Given the description of an element on the screen output the (x, y) to click on. 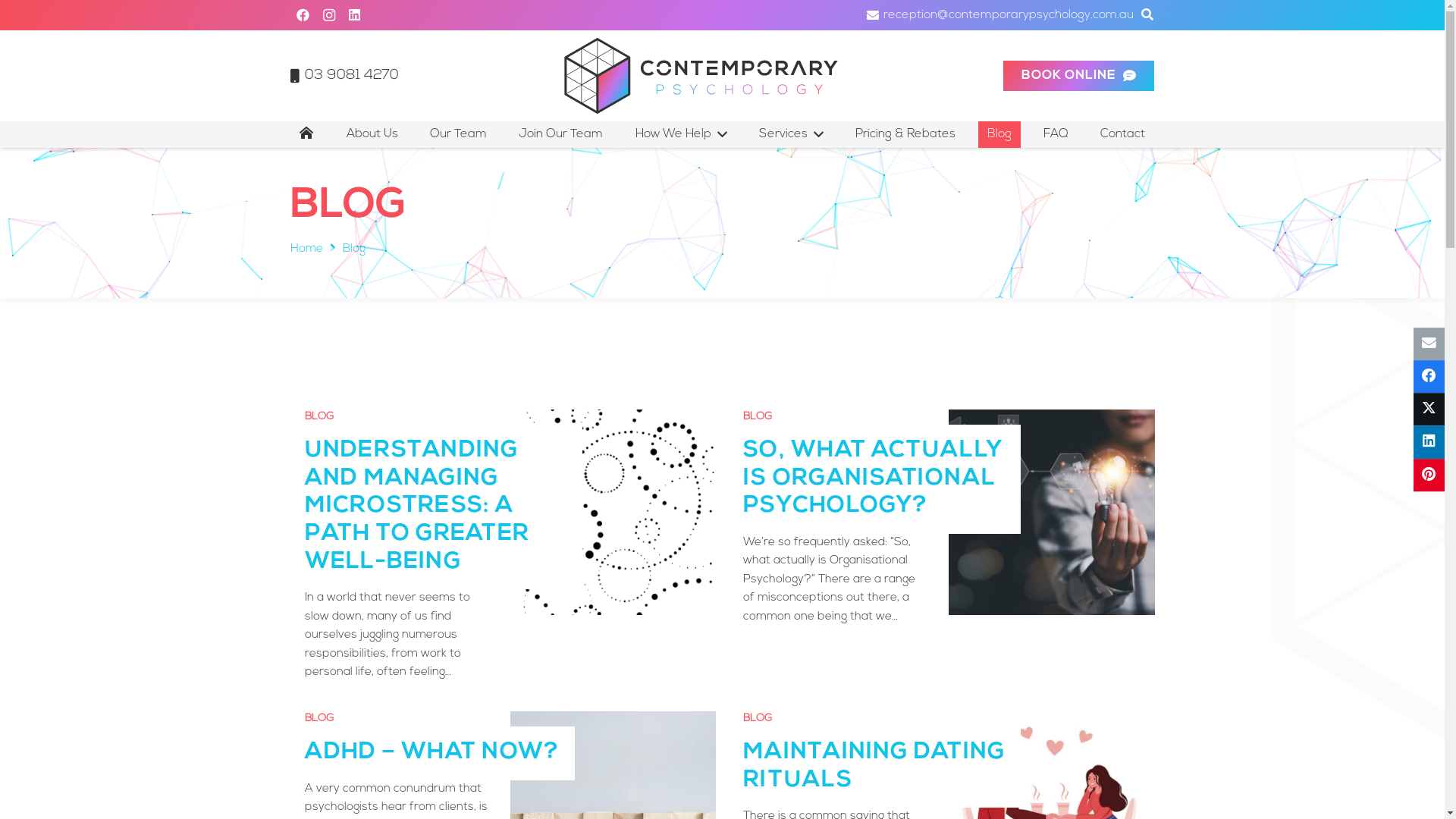
BLOG Element type: text (318, 718)
Pin this Element type: hover (1428, 474)
How We Help Element type: text (681, 134)
About Us Element type: text (372, 134)
BLOG Element type: text (757, 416)
BLOG Element type: text (757, 718)
Our Team Element type: text (457, 134)
BLOG Element type: text (318, 416)
Contact Element type: text (1122, 134)
MAINTAINING DATING RITUALS Element type: text (873, 766)
Blog Element type: text (999, 134)
Tweet this Element type: hover (1428, 408)
Services Element type: text (790, 134)
Home Element type: text (305, 248)
reception@contemporarypsychology.com.au Element type: text (999, 15)
BOOK ONLINE Element type: text (1078, 75)
Instagram Element type: hover (328, 15)
Join Our Team Element type: text (560, 134)
LinkedIn Element type: hover (354, 15)
Share this Element type: hover (1428, 442)
Share this Element type: hover (1428, 376)
Pricing & Rebates Element type: text (905, 134)
Facebook Element type: hover (302, 15)
FAQ Element type: text (1055, 134)
03 9081 4270 Element type: text (343, 75)
SO, WHAT ACTUALLY IS ORGANISATIONAL PSYCHOLOGY? Element type: text (872, 478)
Blog Element type: text (353, 248)
Email this Element type: hover (1428, 343)
